Given the description of an element on the screen output the (x, y) to click on. 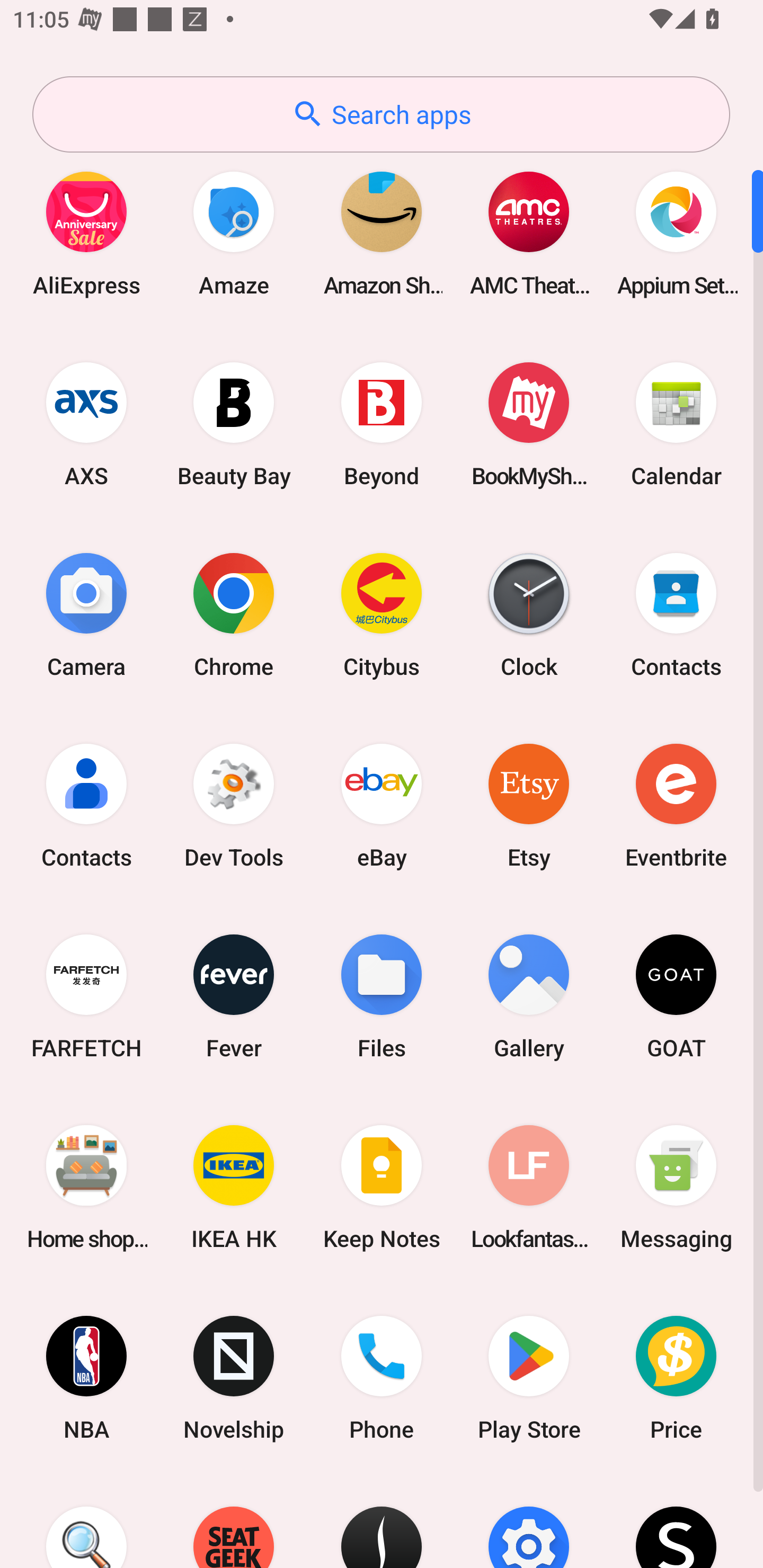
  Search apps (381, 114)
AliExpress (86, 233)
Amaze (233, 233)
Amazon Shopping (381, 233)
AMC Theatres (528, 233)
Appium Settings (676, 233)
AXS (86, 424)
Beauty Bay (233, 424)
Beyond (381, 424)
BookMyShow (528, 424)
Calendar (676, 424)
Camera (86, 614)
Chrome (233, 614)
Citybus (381, 614)
Clock (528, 614)
Contacts (676, 614)
Contacts (86, 805)
Dev Tools (233, 805)
eBay (381, 805)
Etsy (528, 805)
Eventbrite (676, 805)
FARFETCH (86, 996)
Fever (233, 996)
Files (381, 996)
Gallery (528, 996)
GOAT (676, 996)
Home shopping (86, 1186)
IKEA HK (233, 1186)
Keep Notes (381, 1186)
Lookfantastic (528, 1186)
Messaging (676, 1186)
NBA (86, 1377)
Novelship (233, 1377)
Phone (381, 1377)
Play Store (528, 1377)
Price (676, 1377)
